Given the description of an element on the screen output the (x, y) to click on. 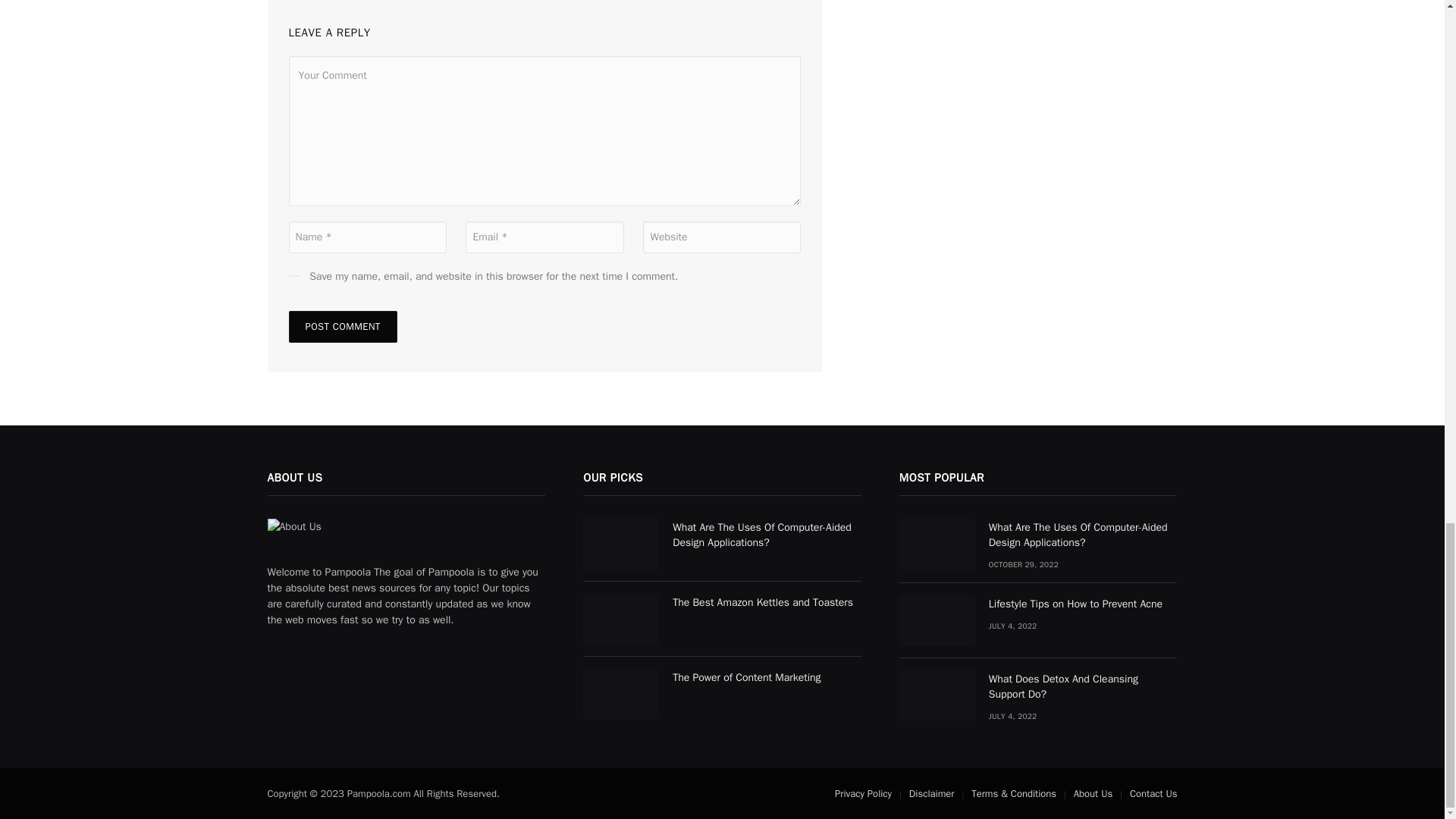
Post Comment (342, 327)
